Given the description of an element on the screen output the (x, y) to click on. 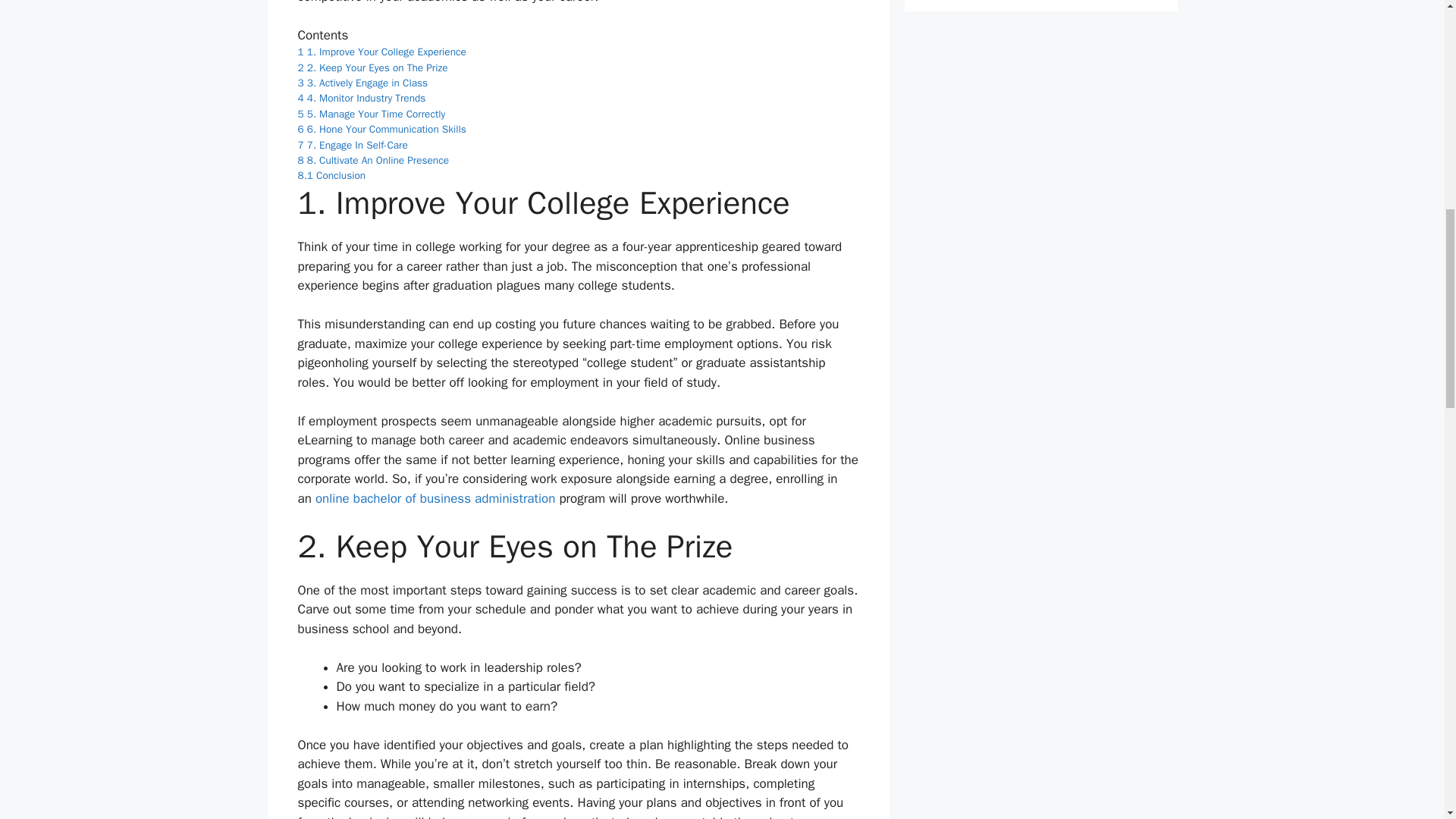
online bachelor of business administration (434, 498)
8 8. Cultivate An Online Presence (372, 160)
3 3. Actively Engage in Class (362, 82)
8.1 Conclusion (331, 174)
6 6. Hone Your Communication Skills (381, 128)
4 4. Monitor Industry Trends (361, 97)
1 1. Improve Your College Experience (381, 51)
7 7. Engage In Self-Care (352, 144)
5 5. Manage Your Time Correctly (371, 113)
2 2. Keep Your Eyes on The Prize (371, 67)
